Given the description of an element on the screen output the (x, y) to click on. 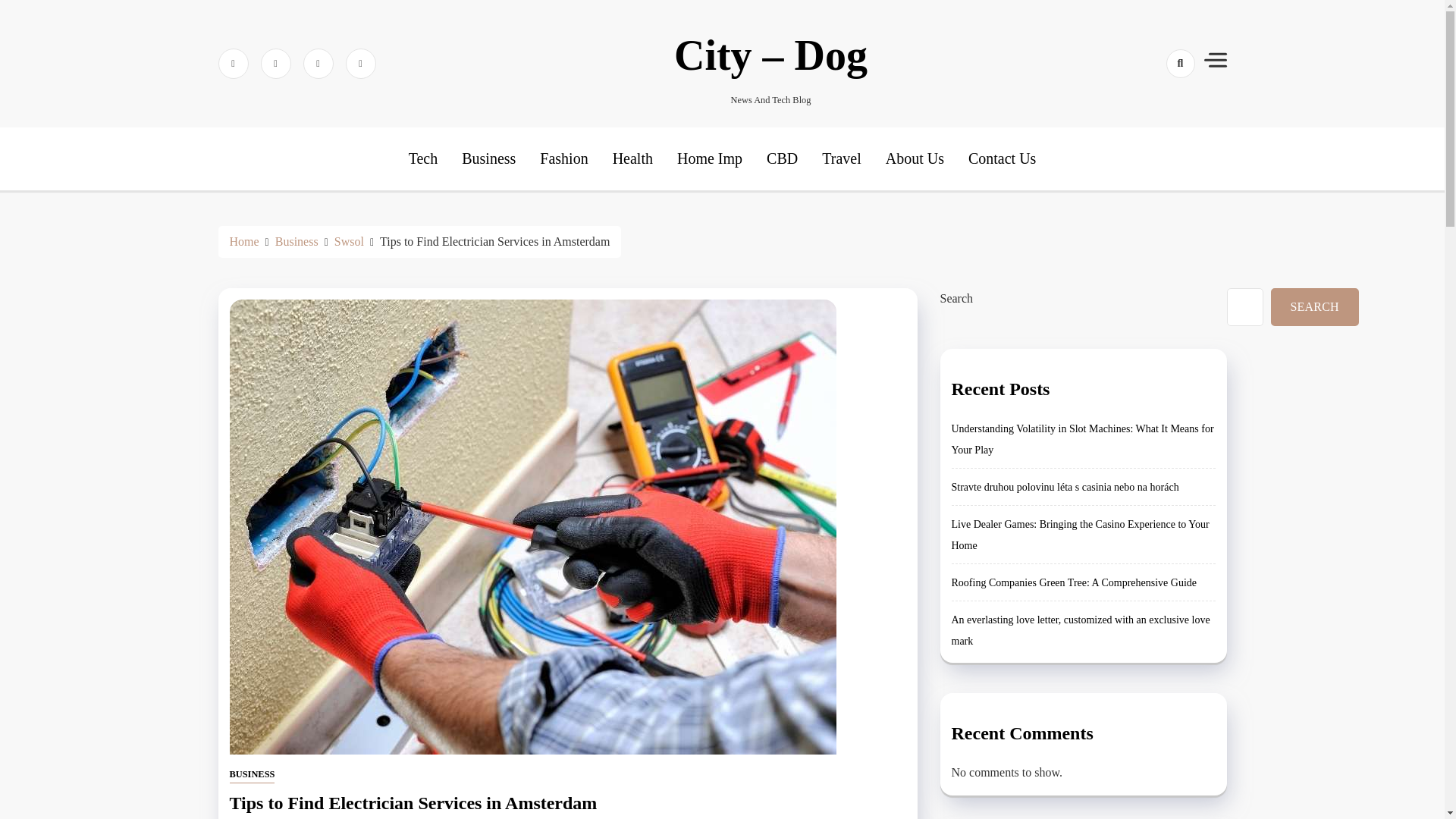
Search (1152, 117)
Contact Us (1001, 158)
Home (243, 241)
BUSINESS (251, 774)
Home Imp (709, 158)
Swsol (349, 241)
About Us (914, 158)
Business (296, 241)
